Given the description of an element on the screen output the (x, y) to click on. 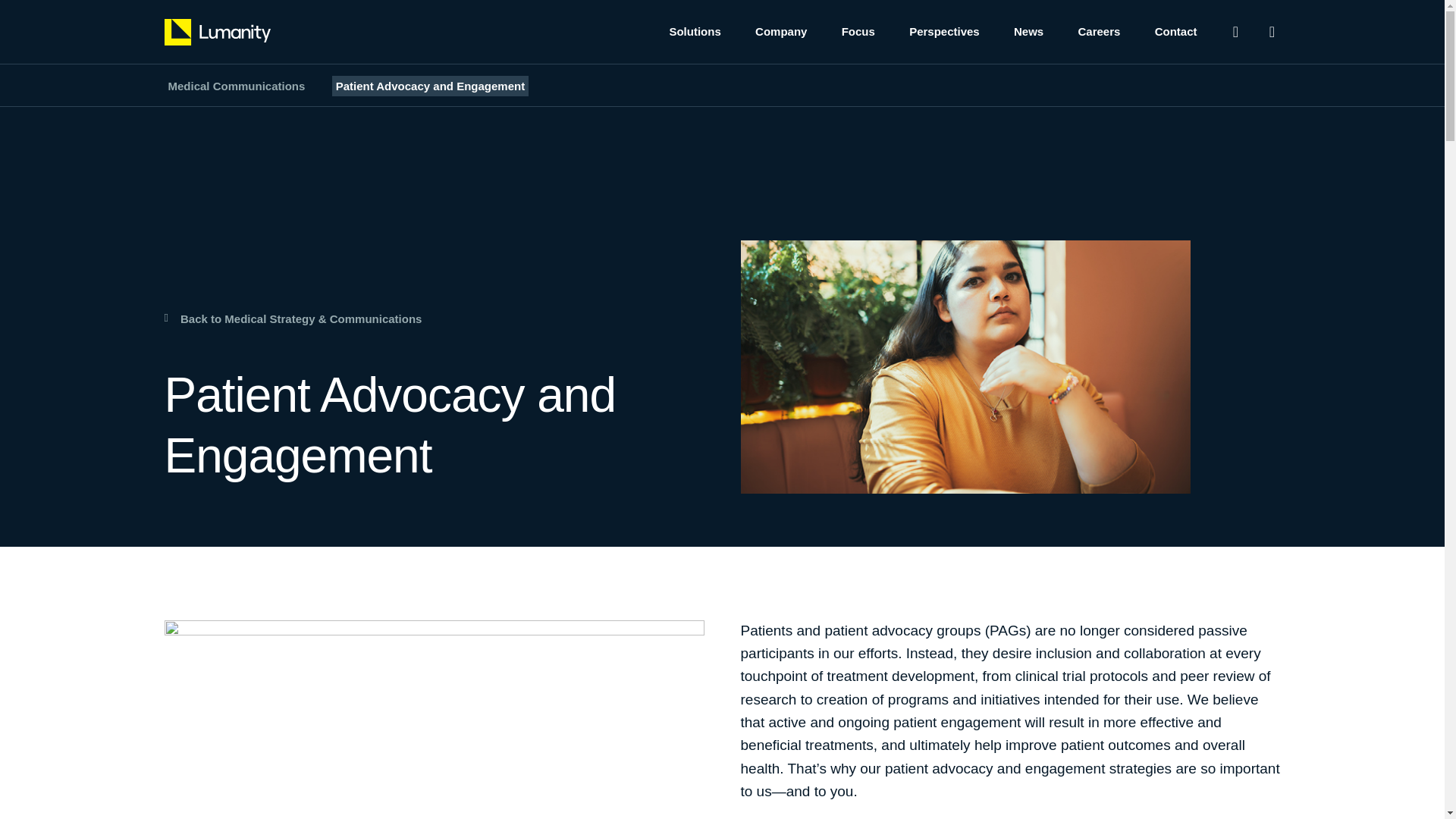
Perspectives (943, 31)
Company (780, 31)
News (1028, 31)
Solutions (694, 31)
Focus (858, 31)
